Given the description of an element on the screen output the (x, y) to click on. 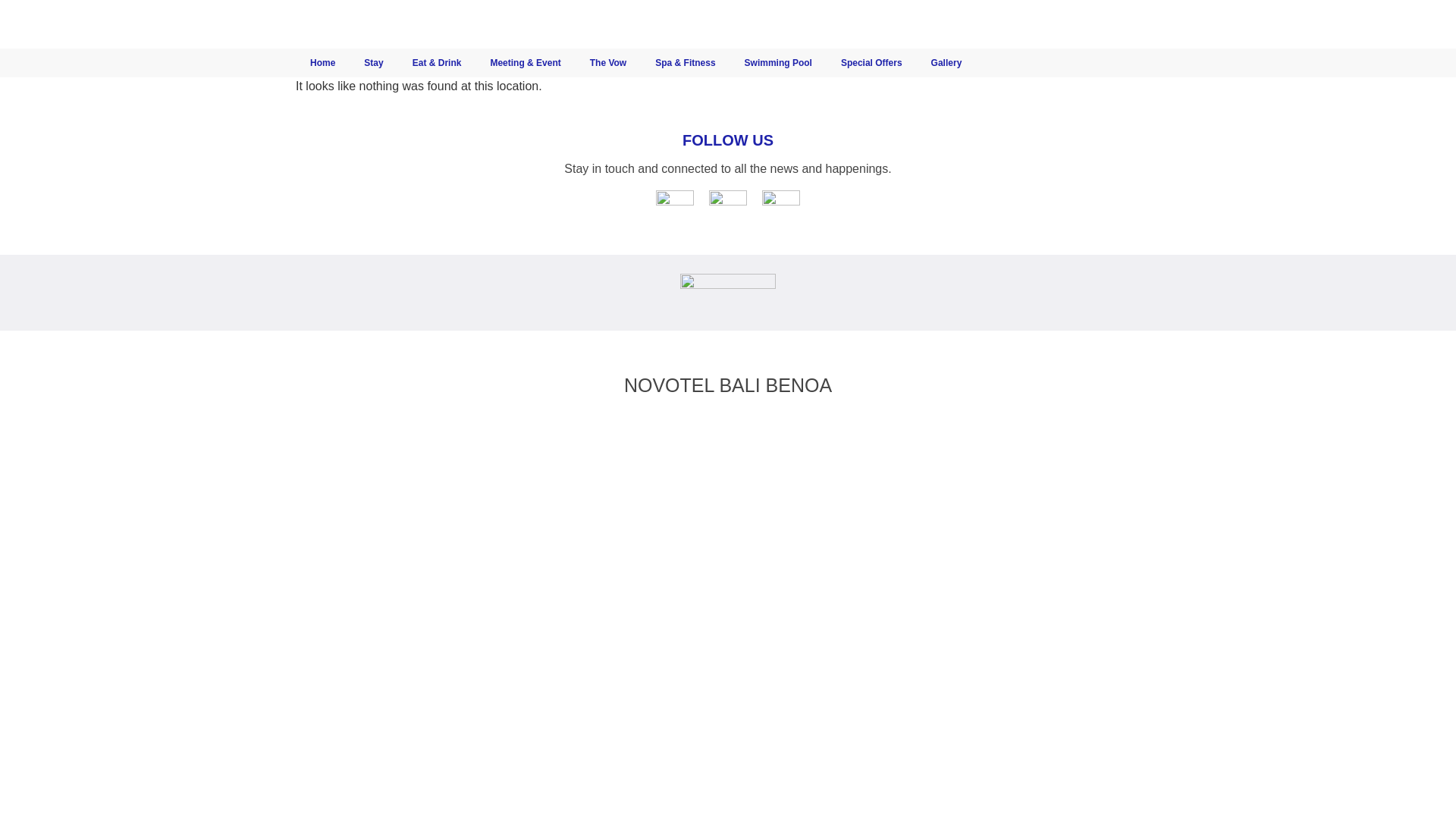
Stay (373, 62)
Special Offers (872, 62)
The Vow (607, 62)
Swimming Pool (778, 62)
Gallery (946, 62)
Home (322, 62)
